Given the description of an element on the screen output the (x, y) to click on. 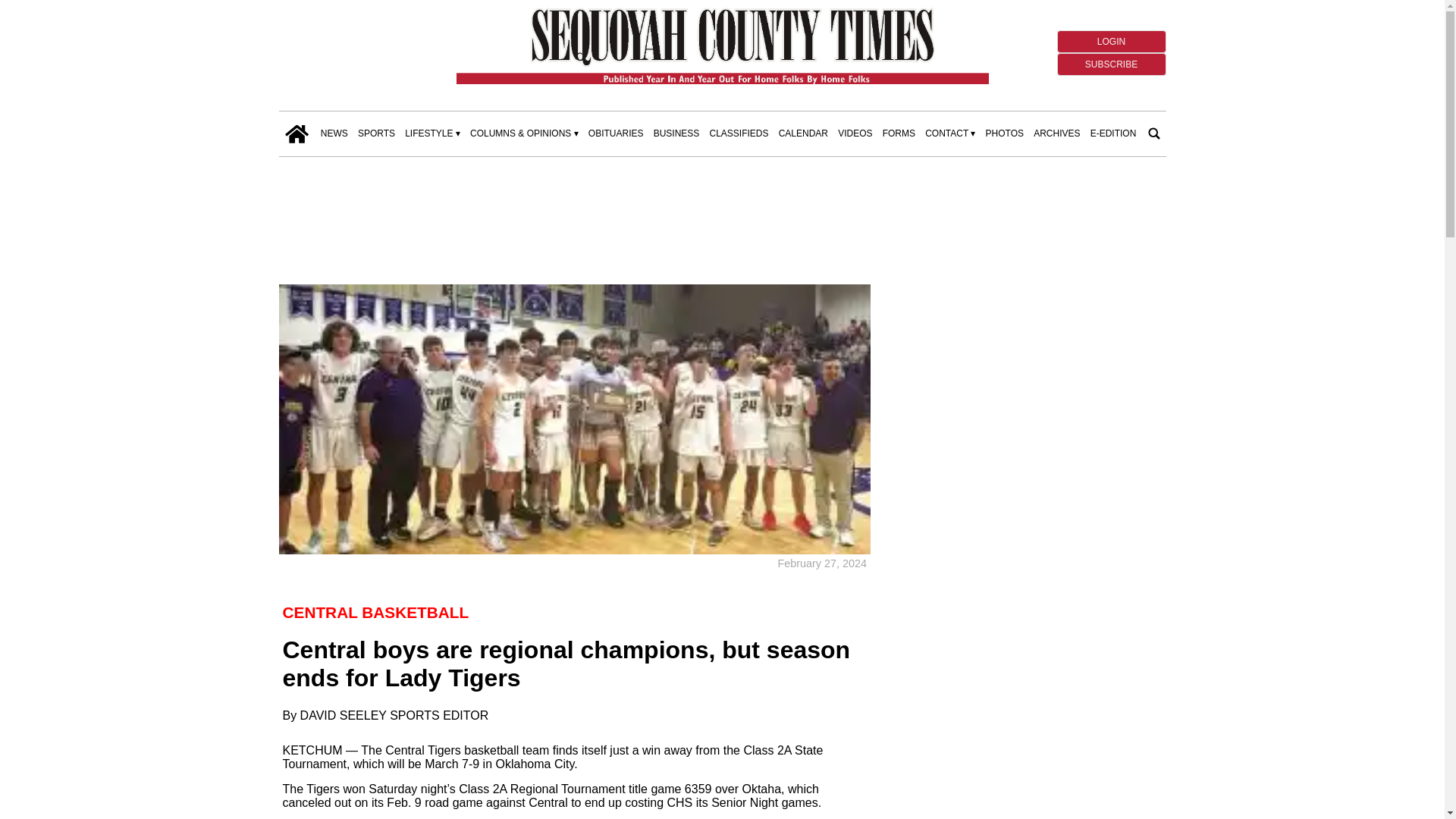
CALENDAR (803, 133)
NEWS (333, 133)
SUBSCRIBE (1111, 64)
CLASSIFIEDS (738, 133)
SPORTS (375, 133)
OBITUARIES (615, 133)
BUSINESS (676, 133)
LIFESTYLE (432, 133)
LOGIN (1111, 41)
